Given the description of an element on the screen output the (x, y) to click on. 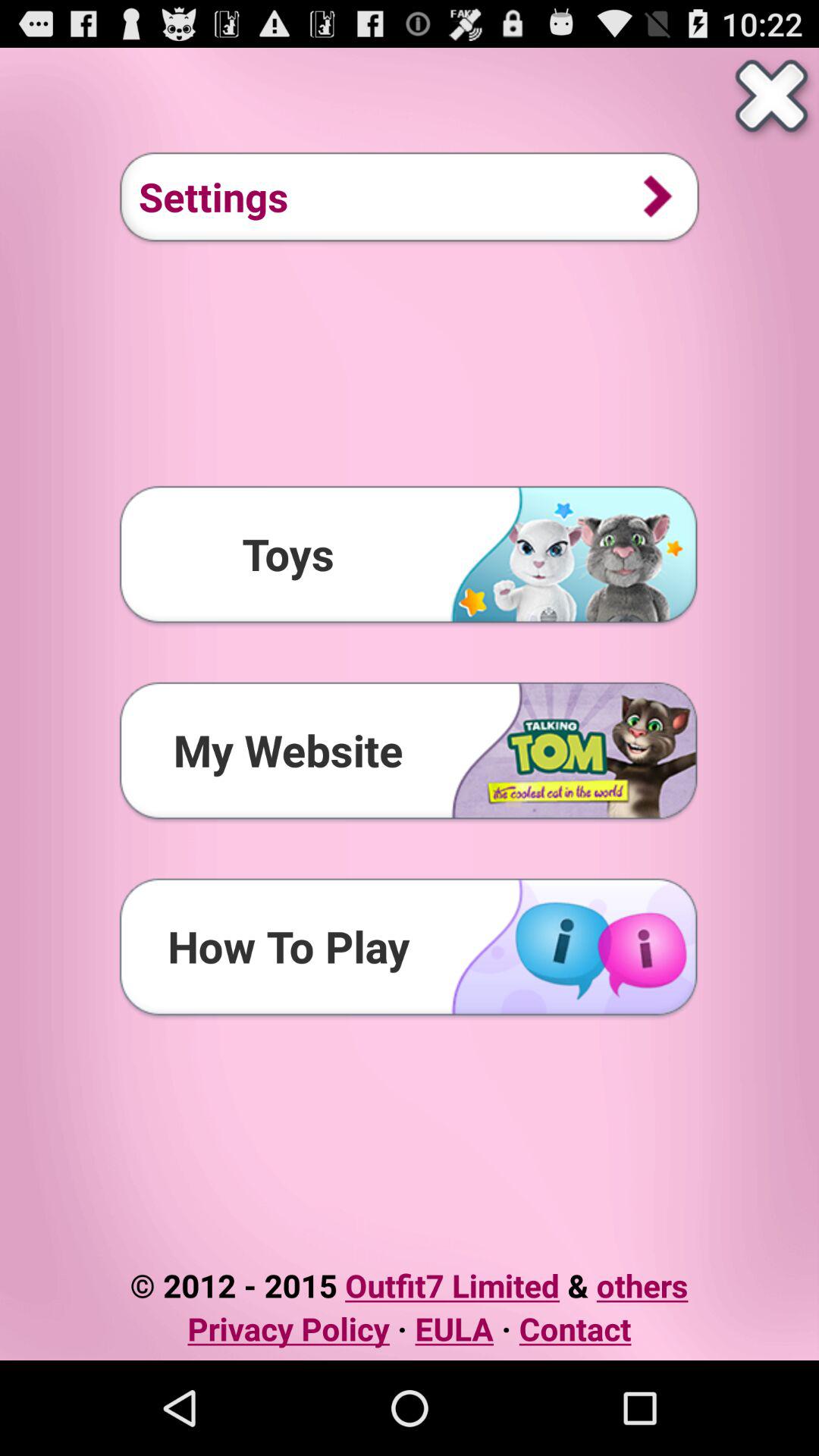
flip until the 2012 2015 outfit7 app (409, 1284)
